Given the description of an element on the screen output the (x, y) to click on. 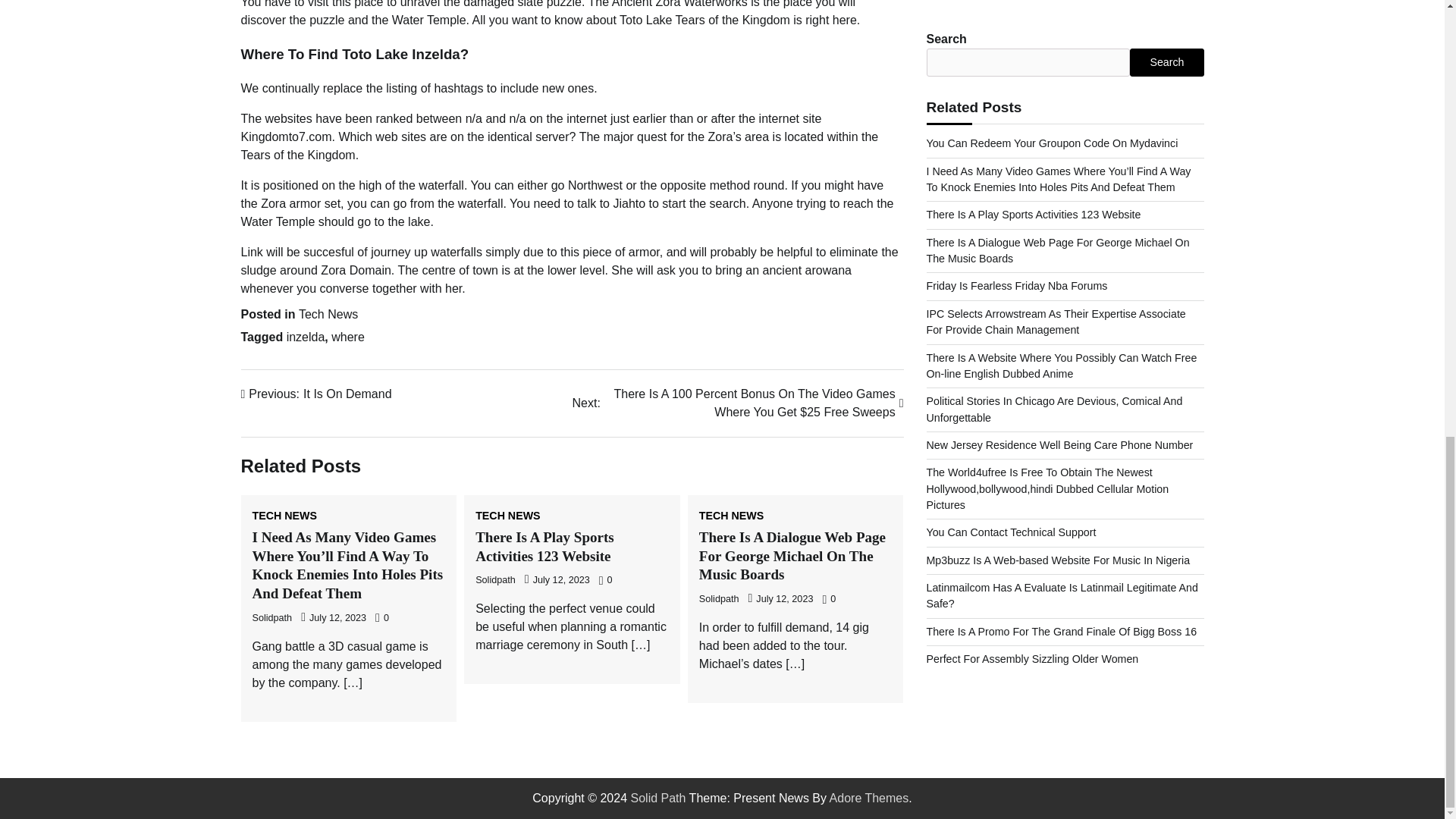
Solidpath (718, 598)
Solid Path (657, 797)
TECH NEWS (508, 515)
TECH NEWS (283, 515)
Tech News (328, 314)
Adore Themes (868, 797)
where (348, 336)
TECH NEWS (730, 515)
There Is A Play Sports Activities 123 Website (545, 546)
Solidpath (316, 393)
inzelda (495, 579)
Solidpath (305, 336)
